Given the description of an element on the screen output the (x, y) to click on. 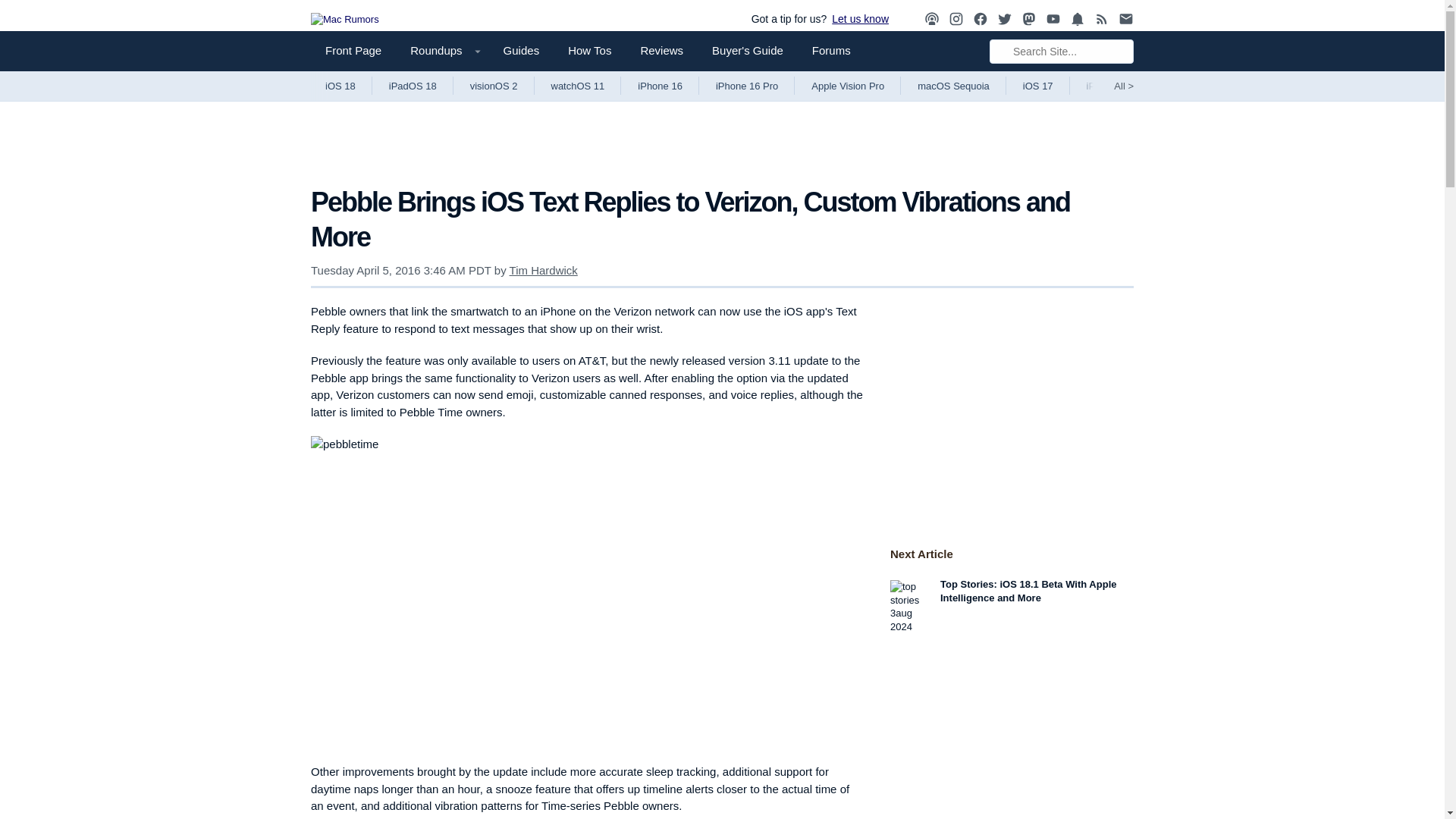
MacRumors YouTube Channel (1053, 19)
Notifications (1077, 19)
Guides (521, 50)
MacRumors RSS Feed (1101, 19)
Mastodon (1029, 19)
Mastodon (1029, 18)
YouTube (1053, 19)
Twitter (1004, 18)
Front Page (353, 50)
Roundups (441, 50)
MacRumors on Instagram (956, 19)
Instagram (956, 19)
MacRumors on Mastodon (1029, 19)
YouTube (1053, 18)
Podcast (931, 18)
